Given the description of an element on the screen output the (x, y) to click on. 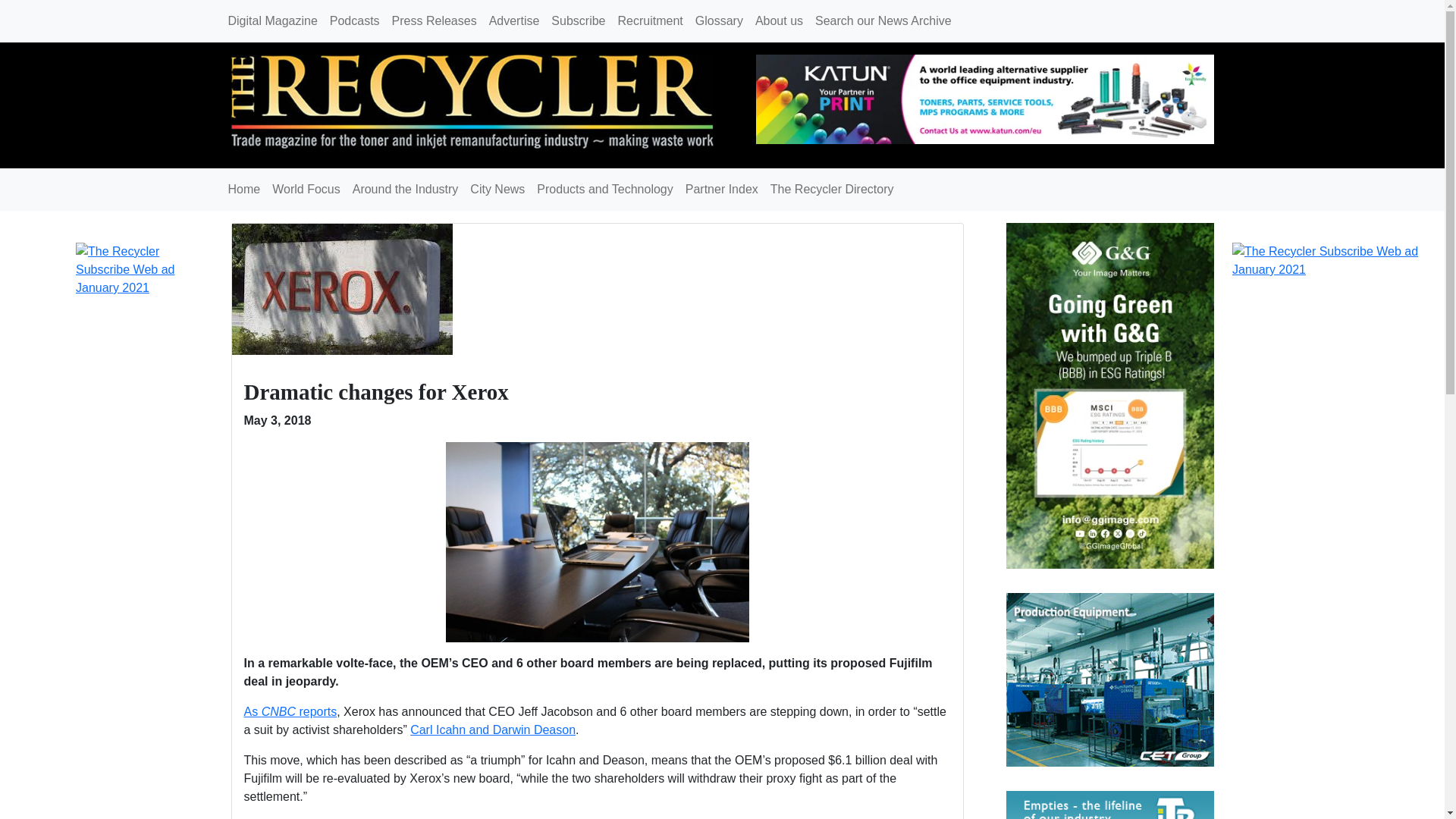
Search our News Archive (883, 20)
Press Releases (434, 20)
City News (497, 189)
Dramatic changes for Xerox (376, 392)
About us (779, 20)
Dramatic changes for Xerox (376, 392)
The Recycler Directory (831, 189)
Glossary (718, 20)
Partner Index (721, 189)
Home (243, 189)
Products and Technology (604, 189)
World Focus (306, 189)
Podcasts (354, 20)
Digital Magazine (272, 20)
Advertise (514, 20)
